Given the description of an element on the screen output the (x, y) to click on. 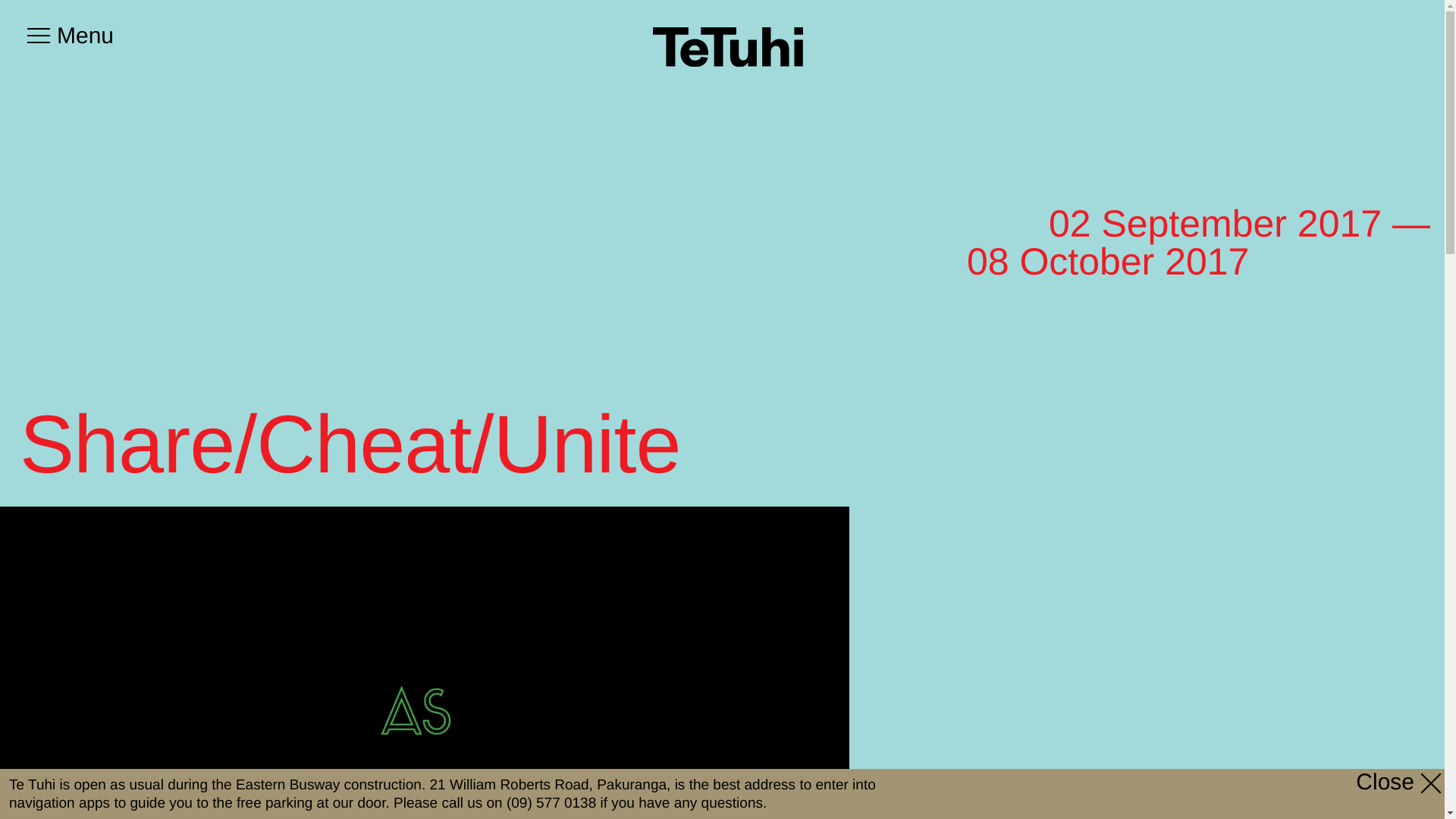
TeTuhi (727, 46)
